Given the description of an element on the screen output the (x, y) to click on. 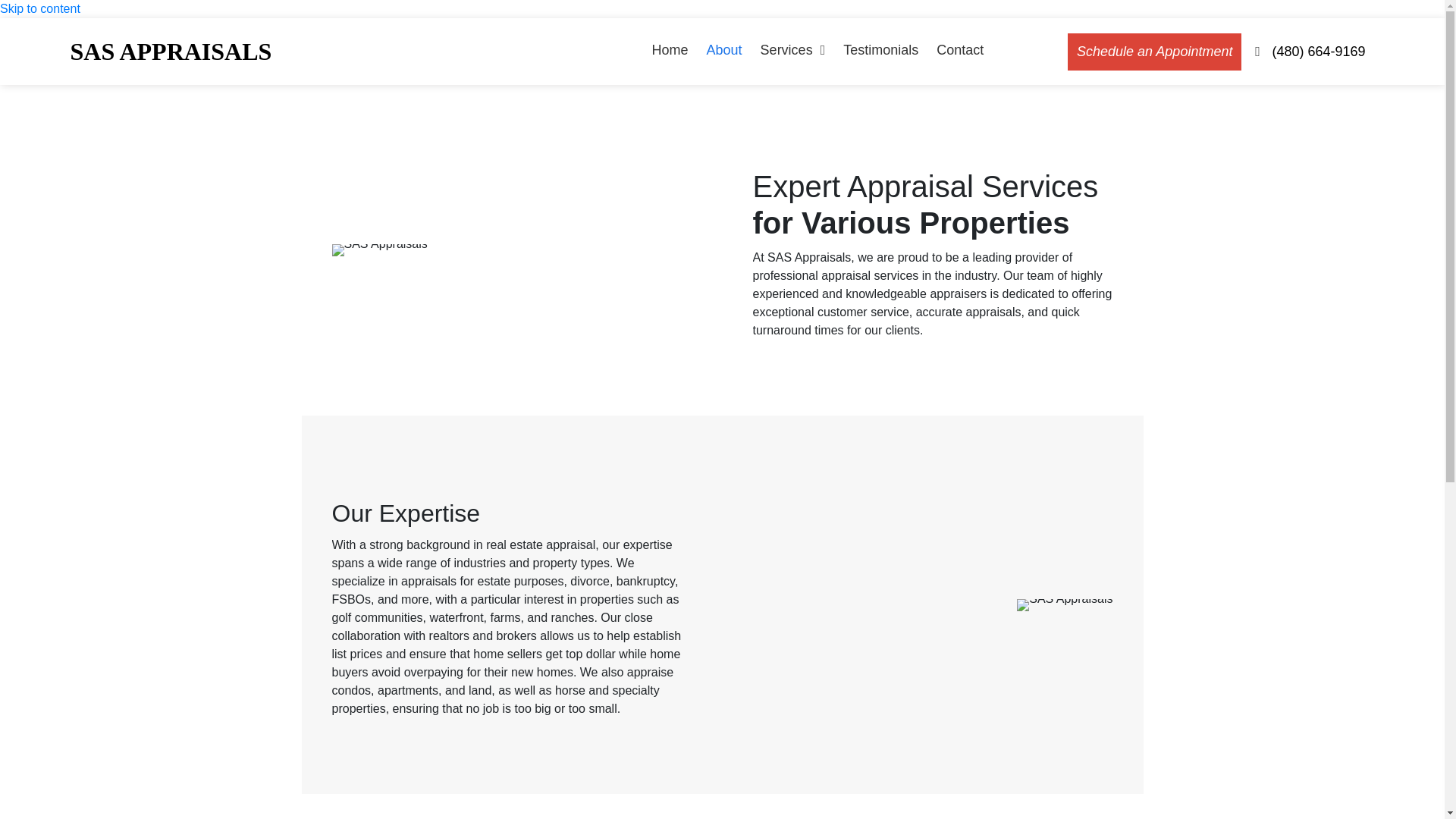
Testimonials (880, 51)
SAS Appraisals (379, 250)
Skip to content (40, 8)
SAS Appraisals (1064, 604)
Home (670, 51)
About (724, 51)
Schedule an Appointment (1154, 51)
Contact (960, 51)
Services (792, 51)
SAS APPRAISALS (169, 51)
